Given the description of an element on the screen output the (x, y) to click on. 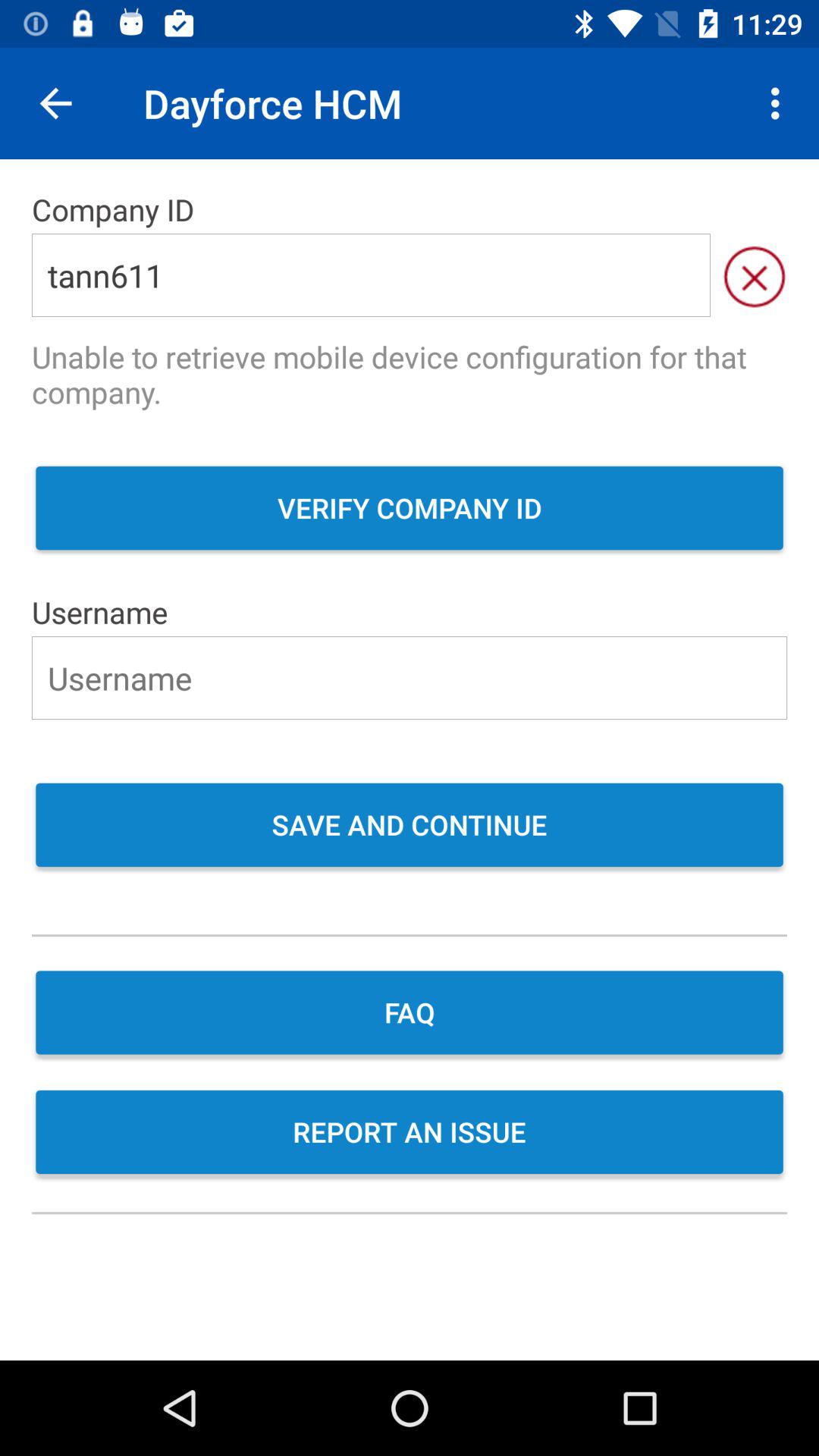
turn on the item above the unable to retrieve item (370, 274)
